Given the description of an element on the screen output the (x, y) to click on. 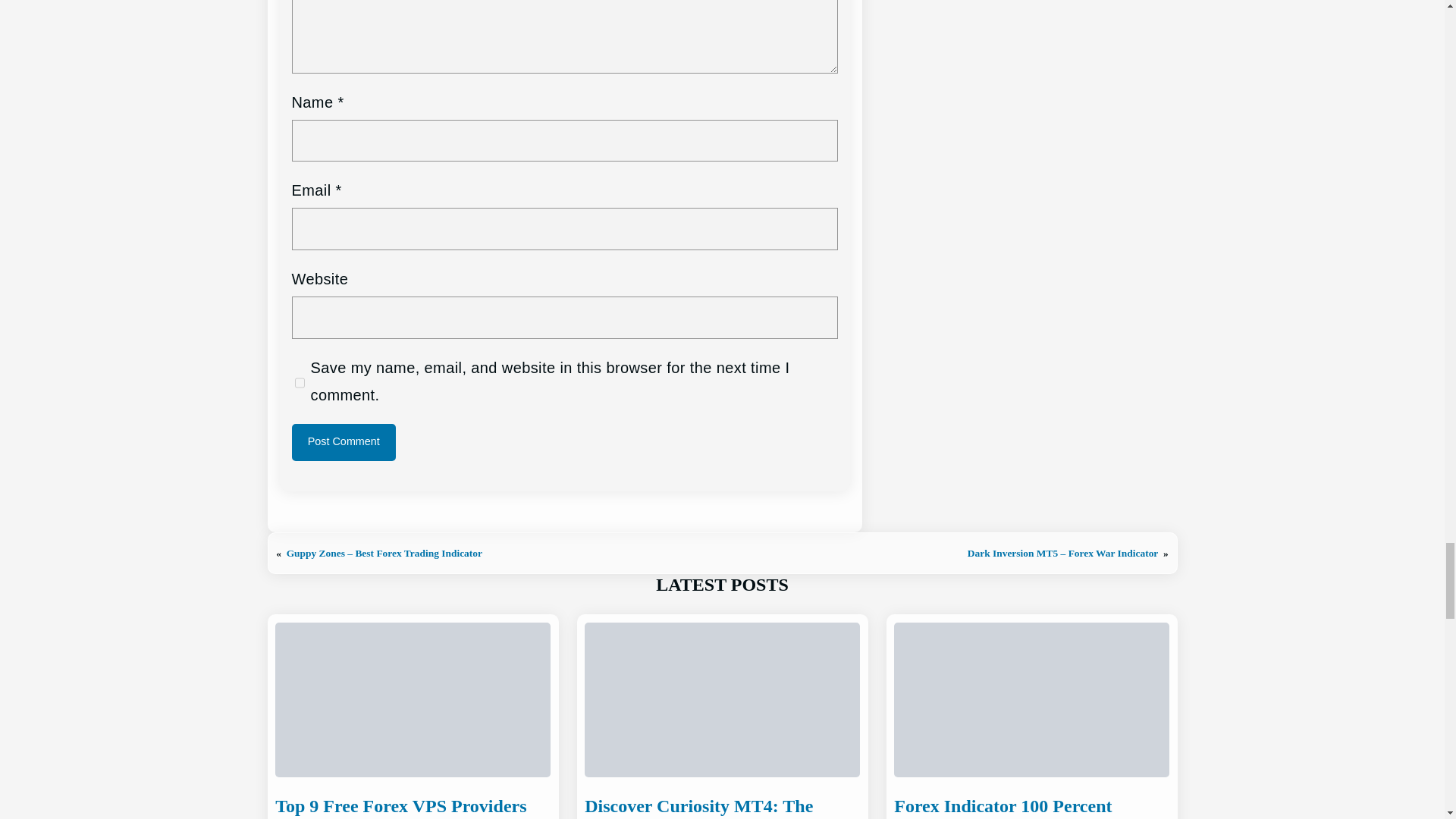
yes (299, 382)
Post Comment (343, 442)
Post Comment (343, 442)
